Given the description of an element on the screen output the (x, y) to click on. 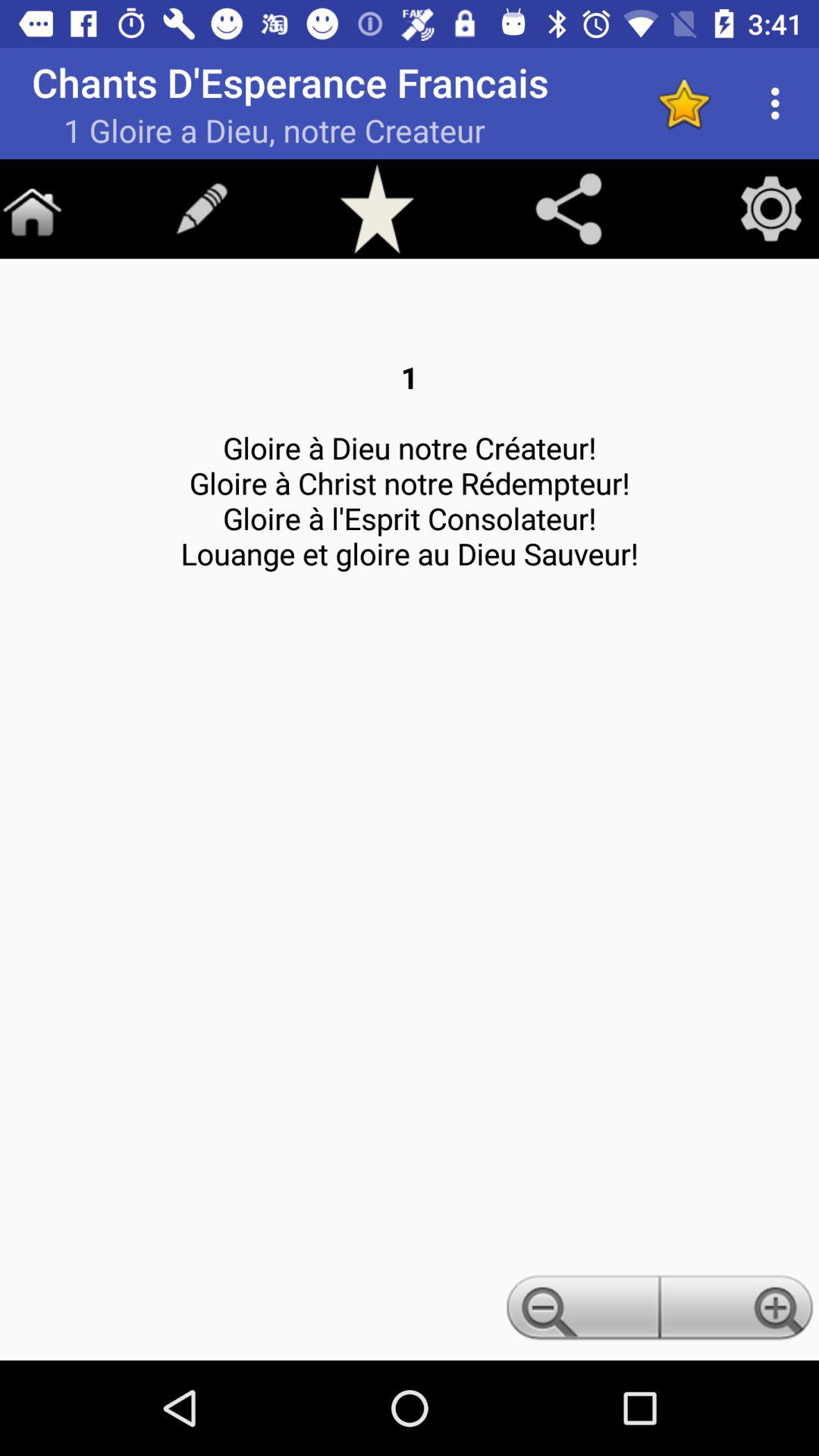
add to favorites (377, 208)
